Given the description of an element on the screen output the (x, y) to click on. 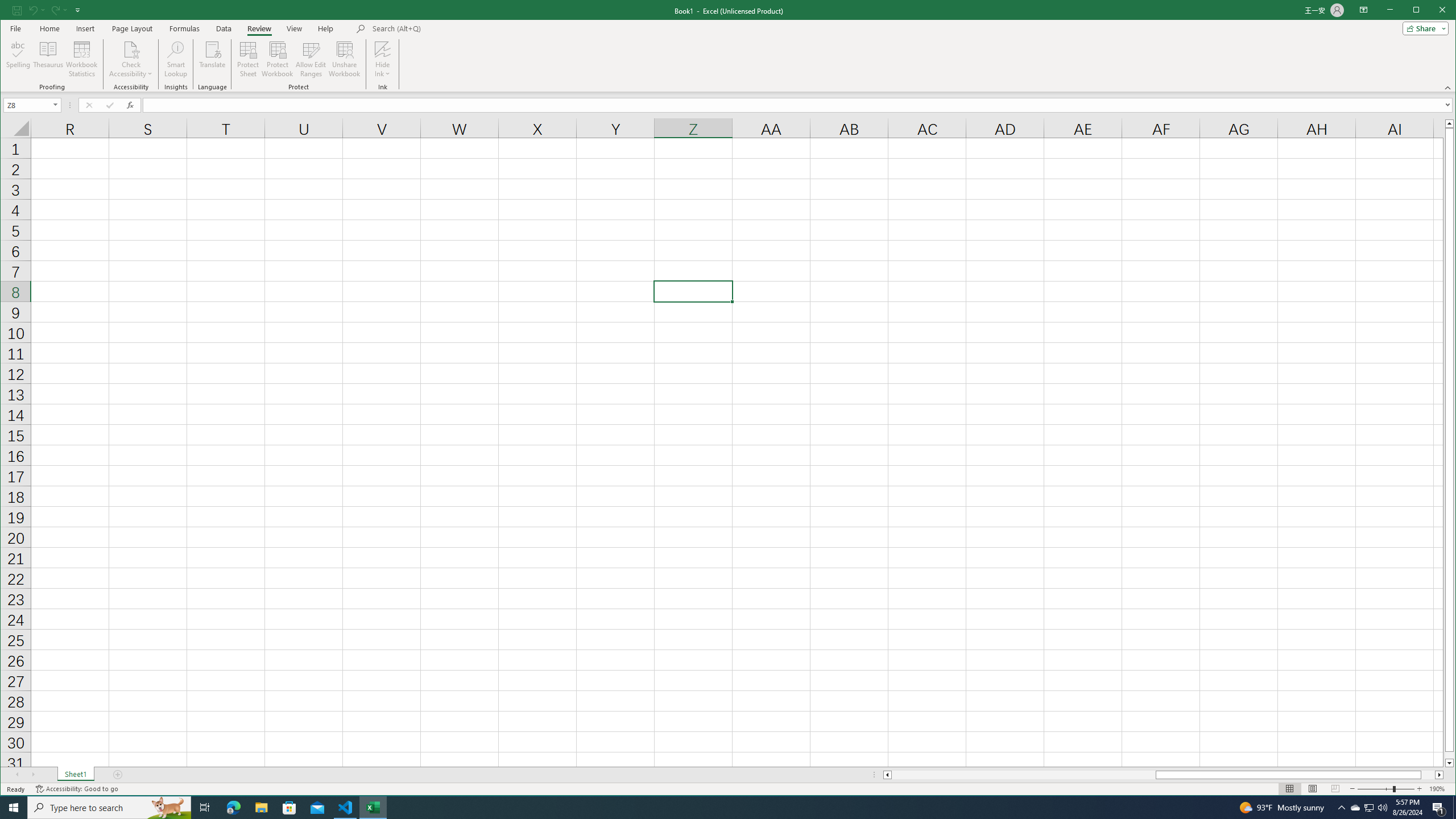
Action Center, 1 new notification (1439, 807)
Spelling... (18, 59)
